Given the description of an element on the screen output the (x, y) to click on. 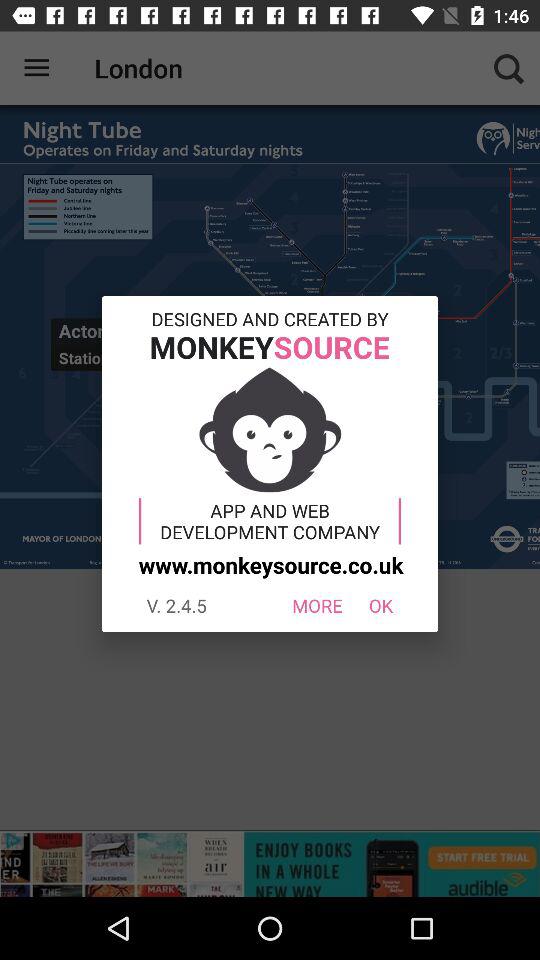
tap item next to the v 2 4 (316, 605)
